Given the description of an element on the screen output the (x, y) to click on. 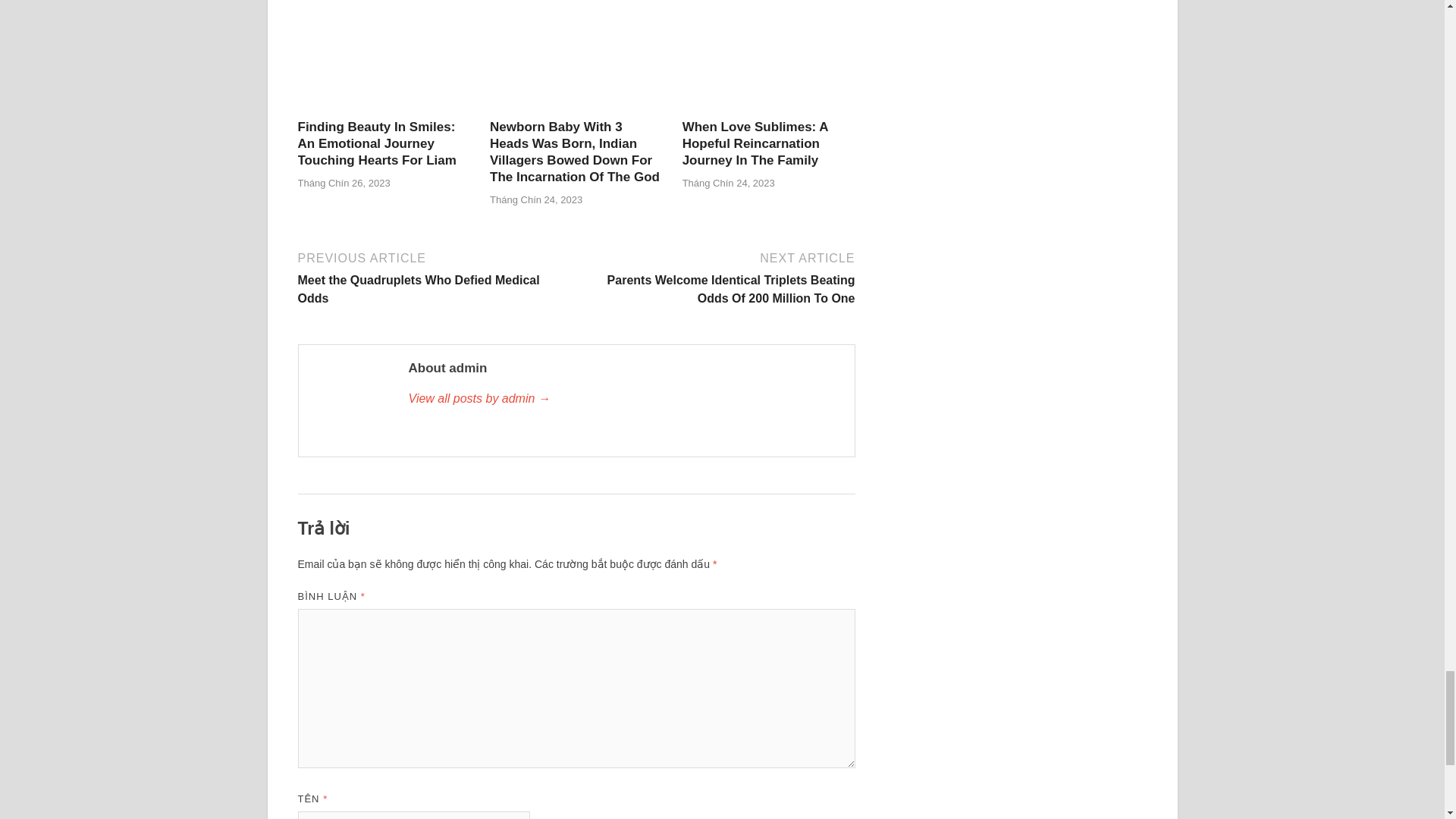
admin (622, 398)
